Given the description of an element on the screen output the (x, y) to click on. 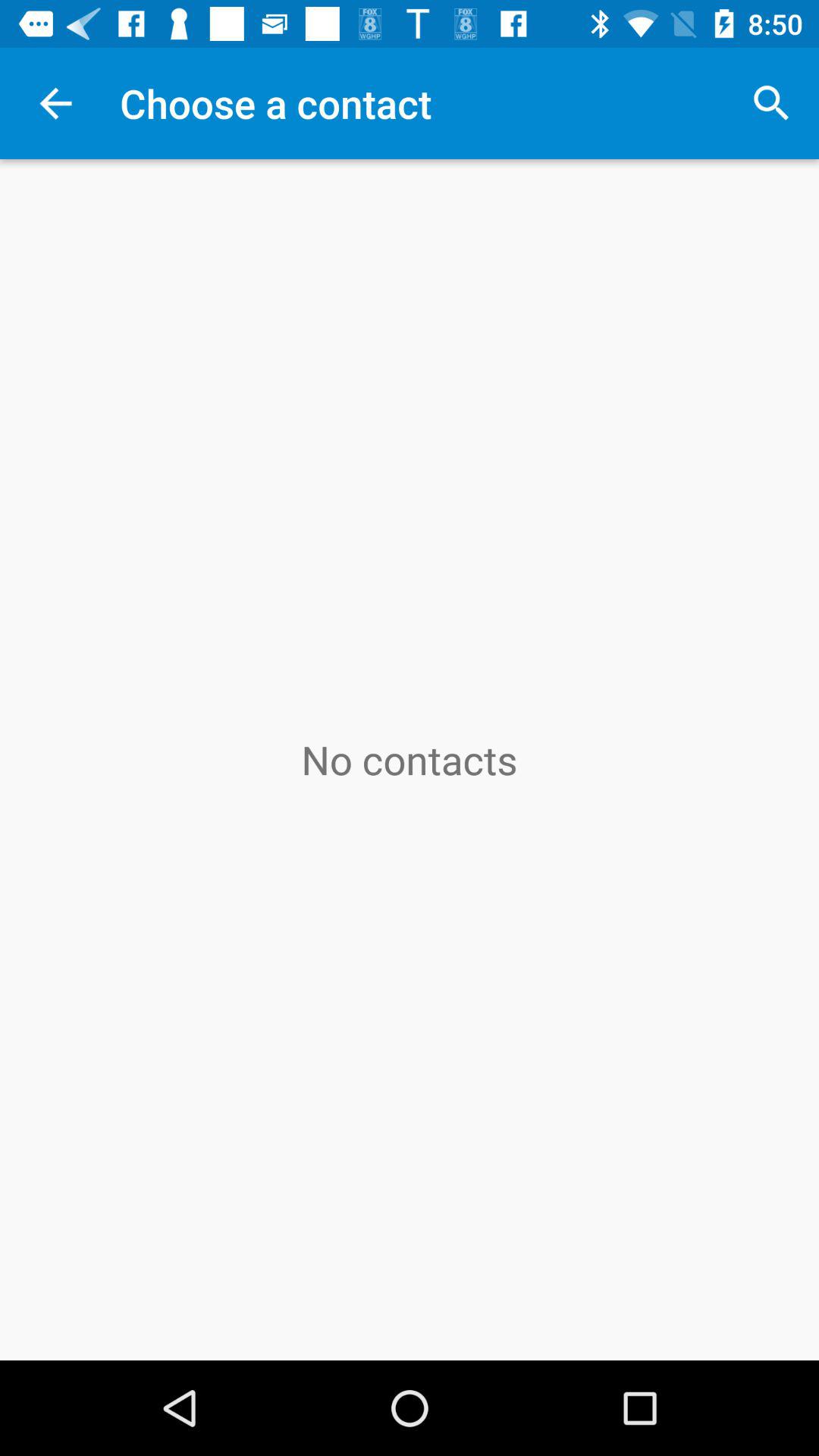
open icon at the top right corner (771, 103)
